Given the description of an element on the screen output the (x, y) to click on. 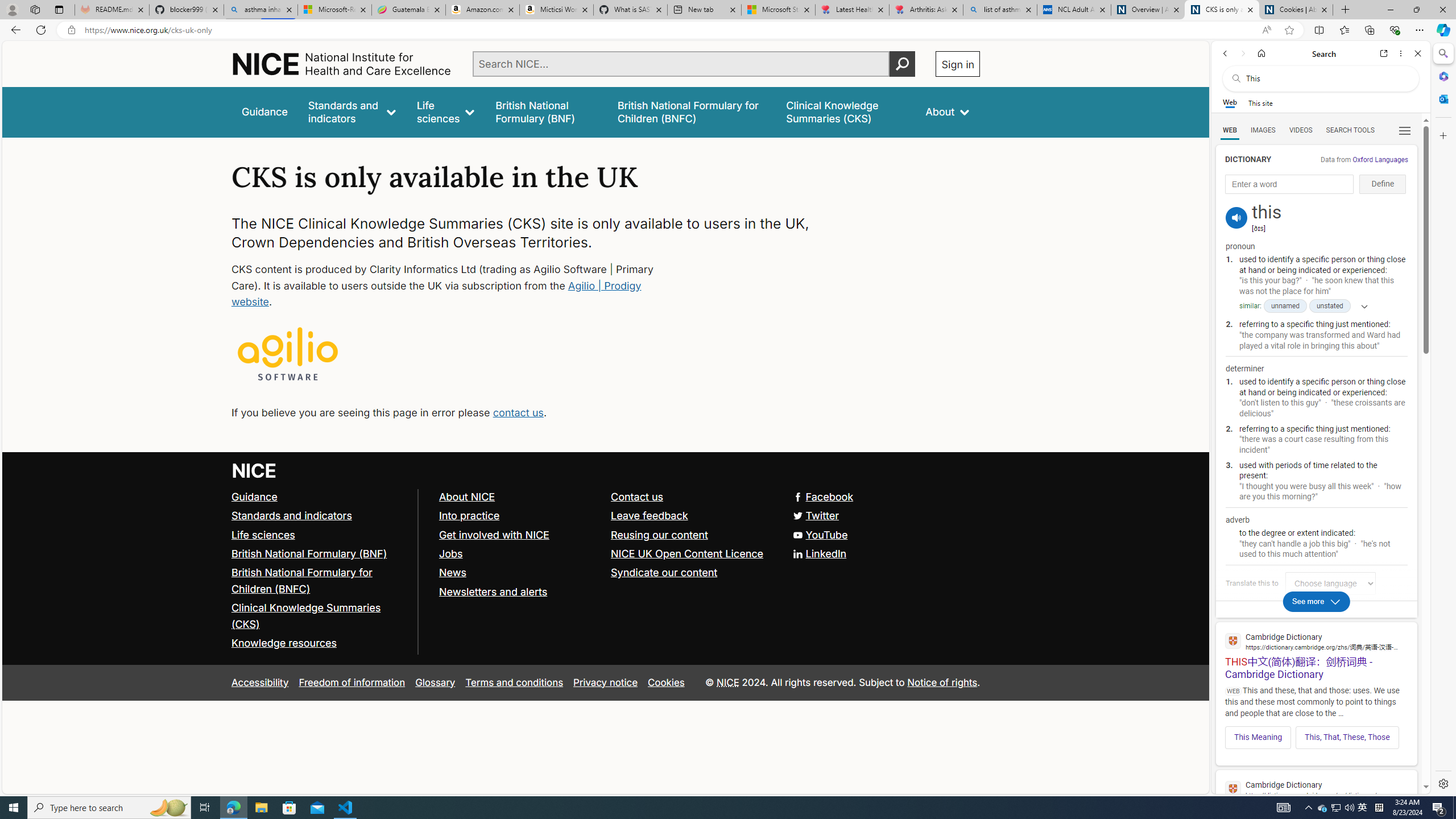
Search Filter, WEB (1230, 129)
Web scope (1230, 102)
See more (1316, 601)
Agilio | Prodigy website (436, 293)
News (518, 572)
list of asthma inhalers uk - Search (1000, 9)
Freedom of information (352, 682)
unstated (1329, 305)
This, That, These, Those (1347, 737)
Privacy notice (605, 682)
